Given the description of an element on the screen output the (x, y) to click on. 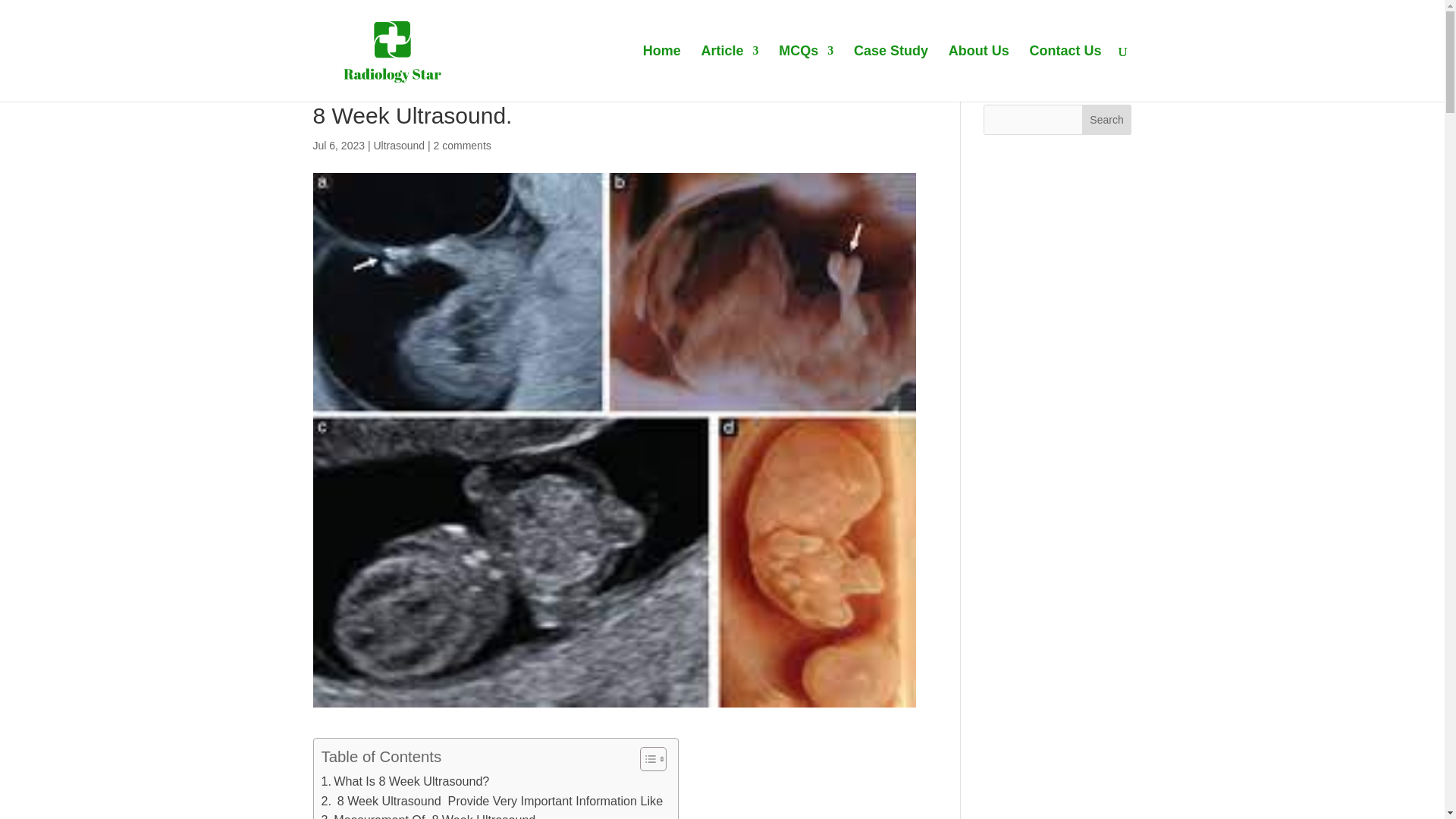
Contact Us (1064, 73)
Measurement Of  8 Week Ultrasound. (429, 814)
What Is 8 Week Ultrasound? (405, 781)
About Us (979, 73)
Article (729, 73)
Ultrasound (398, 145)
2 comments (462, 145)
What Is 8 Week Ultrasound? (405, 781)
